Given the description of an element on the screen output the (x, y) to click on. 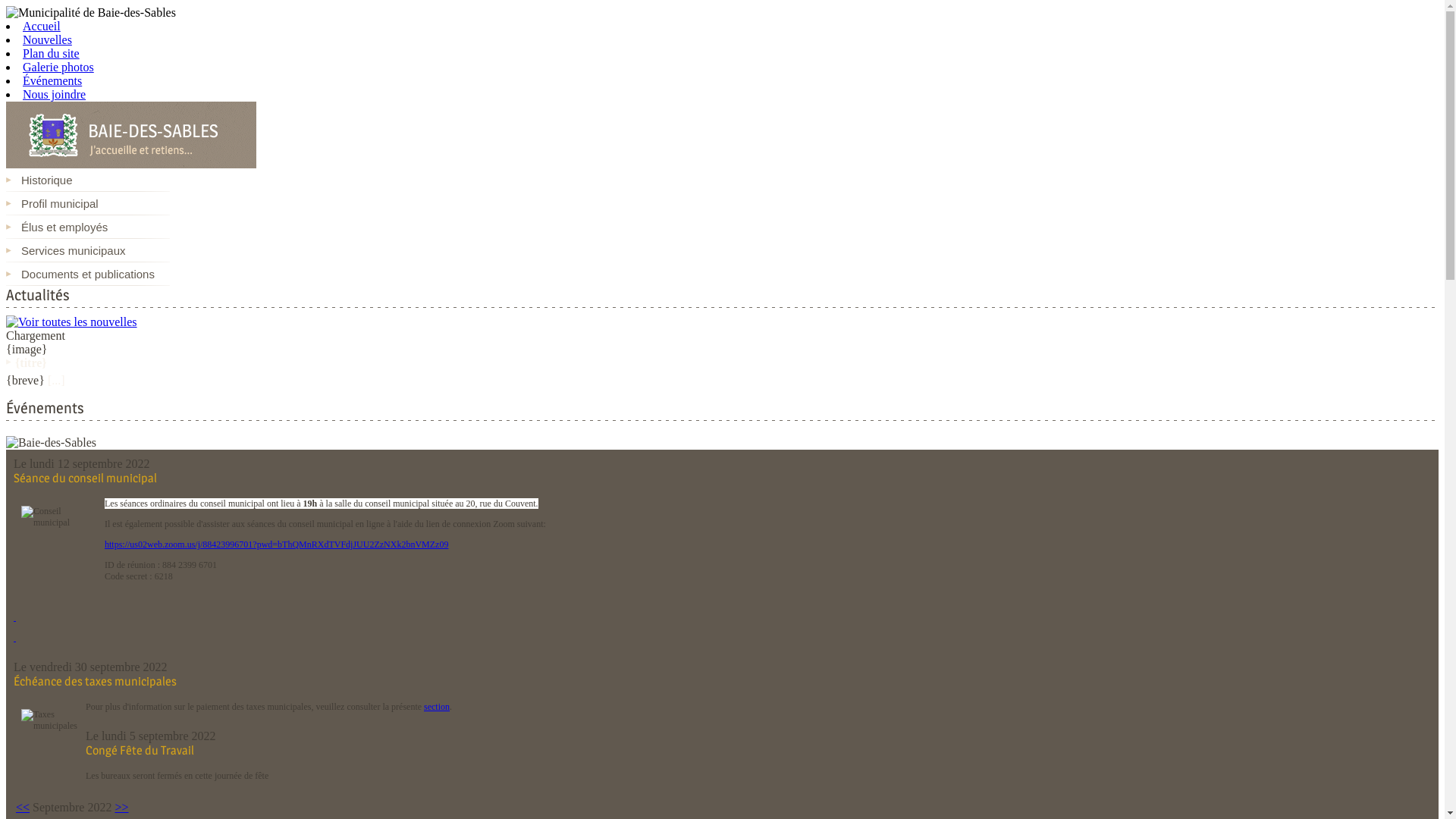
section Element type: text (436, 706)
Historique Element type: text (87, 179)
Galerie photos Element type: text (58, 66)
Nouvelles Element type: text (47, 39)
Conseil municipal Element type: hover (59, 536)
<< Element type: text (22, 806)
>> Element type: text (121, 806)
Taxes municipales Element type: hover (49, 736)
Nous joindre Element type: text (53, 93)
Voir toutes les nouvelles Element type: hover (71, 322)
  Element type: text (14, 616)
Plan du site Element type: text (50, 53)
Accueil Element type: text (41, 25)
  Element type: text (14, 637)
Profil municipal Element type: text (87, 203)
Documents et publications Element type: text (87, 273)
Services municipaux Element type: text (87, 250)
Baie-des-Sables Element type: hover (51, 442)
